Given the description of an element on the screen output the (x, y) to click on. 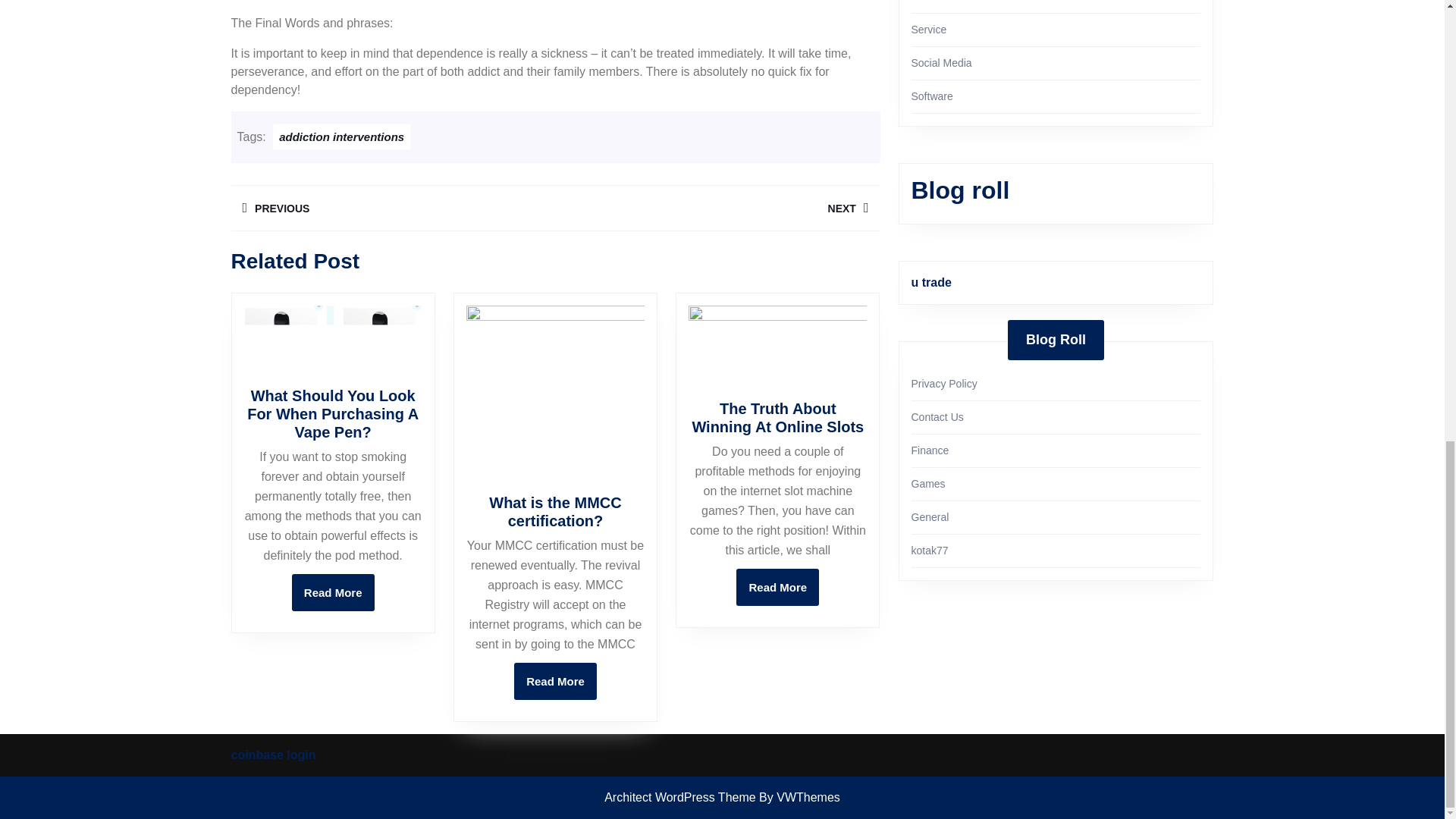
addiction interventions (392, 207)
